Given the description of an element on the screen output the (x, y) to click on. 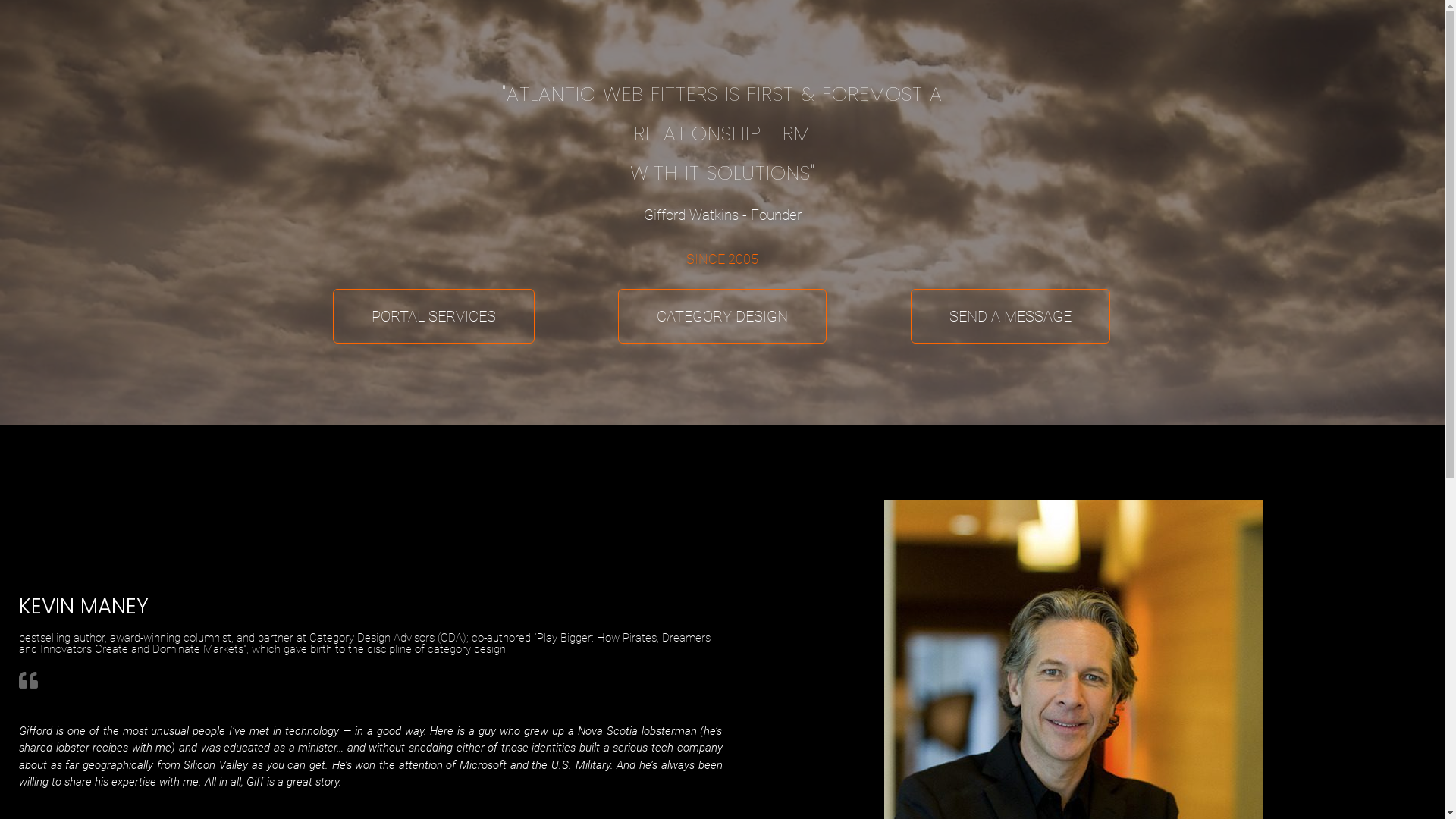
SEND A MESSAGE Element type: text (1010, 315)
PORTAL SERVICES Element type: text (433, 315)
CATEGORY DESIGN Element type: text (722, 315)
